Given the description of an element on the screen output the (x, y) to click on. 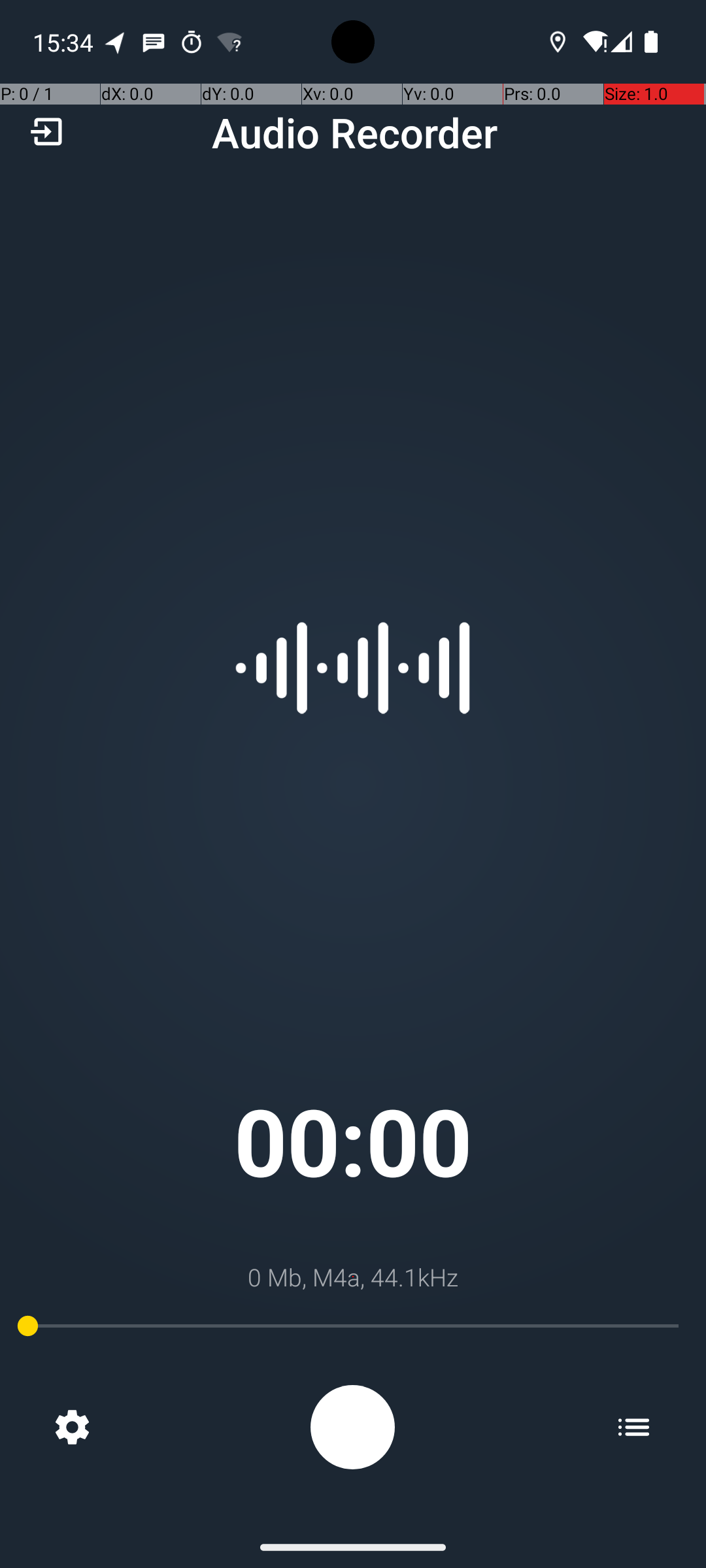
00:00 Element type: android.widget.TextView (352, 1140)
0 Mb, M4a, 44.1kHz Element type: android.widget.TextView (352, 1276)
Recording: %s Element type: android.widget.ImageButton (352, 1427)
